Given the description of an element on the screen output the (x, y) to click on. 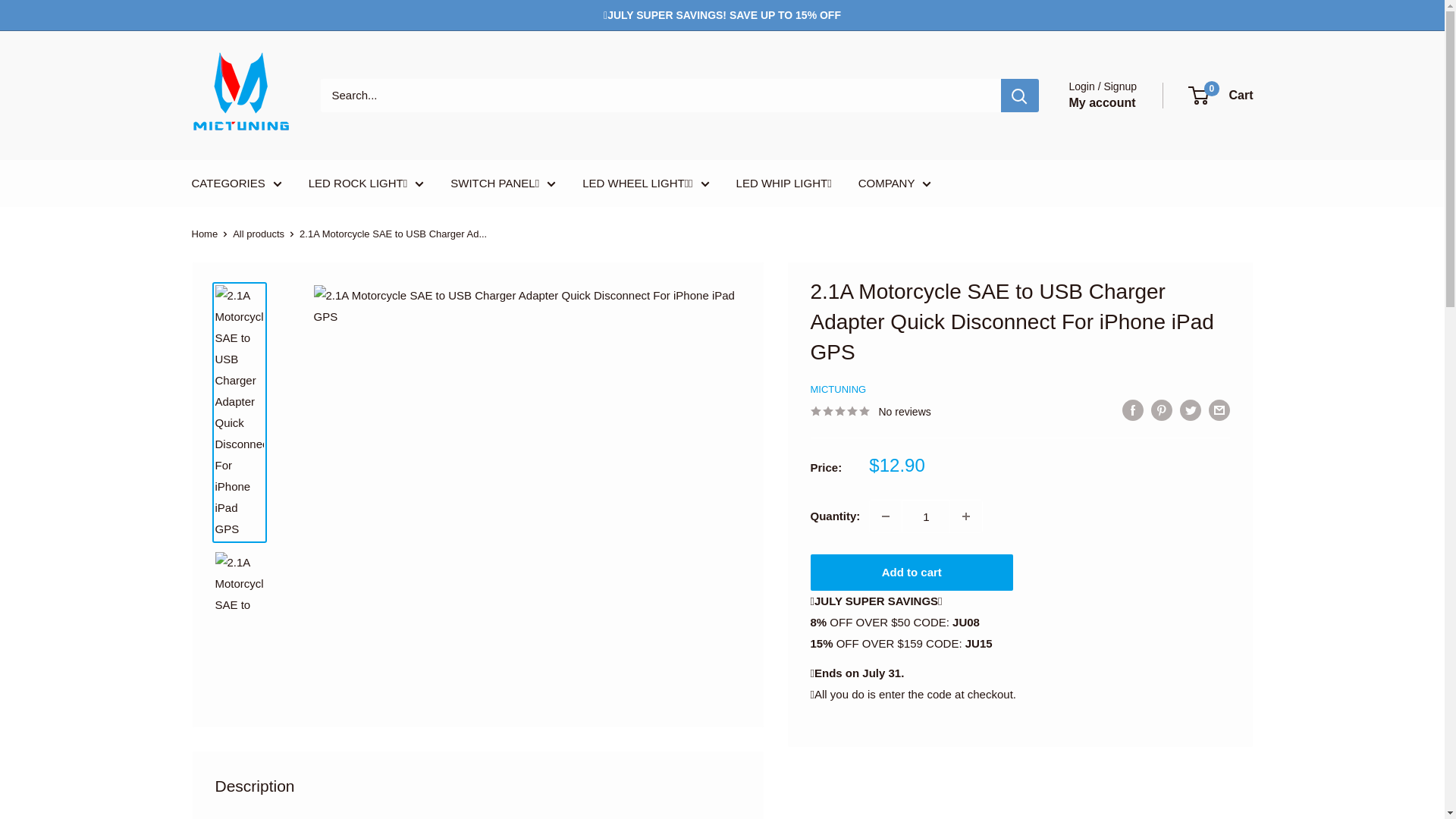
Increase quantity by 1 (965, 516)
Decrease quantity by 1 (885, 516)
1 (925, 516)
